Given the description of an element on the screen output the (x, y) to click on. 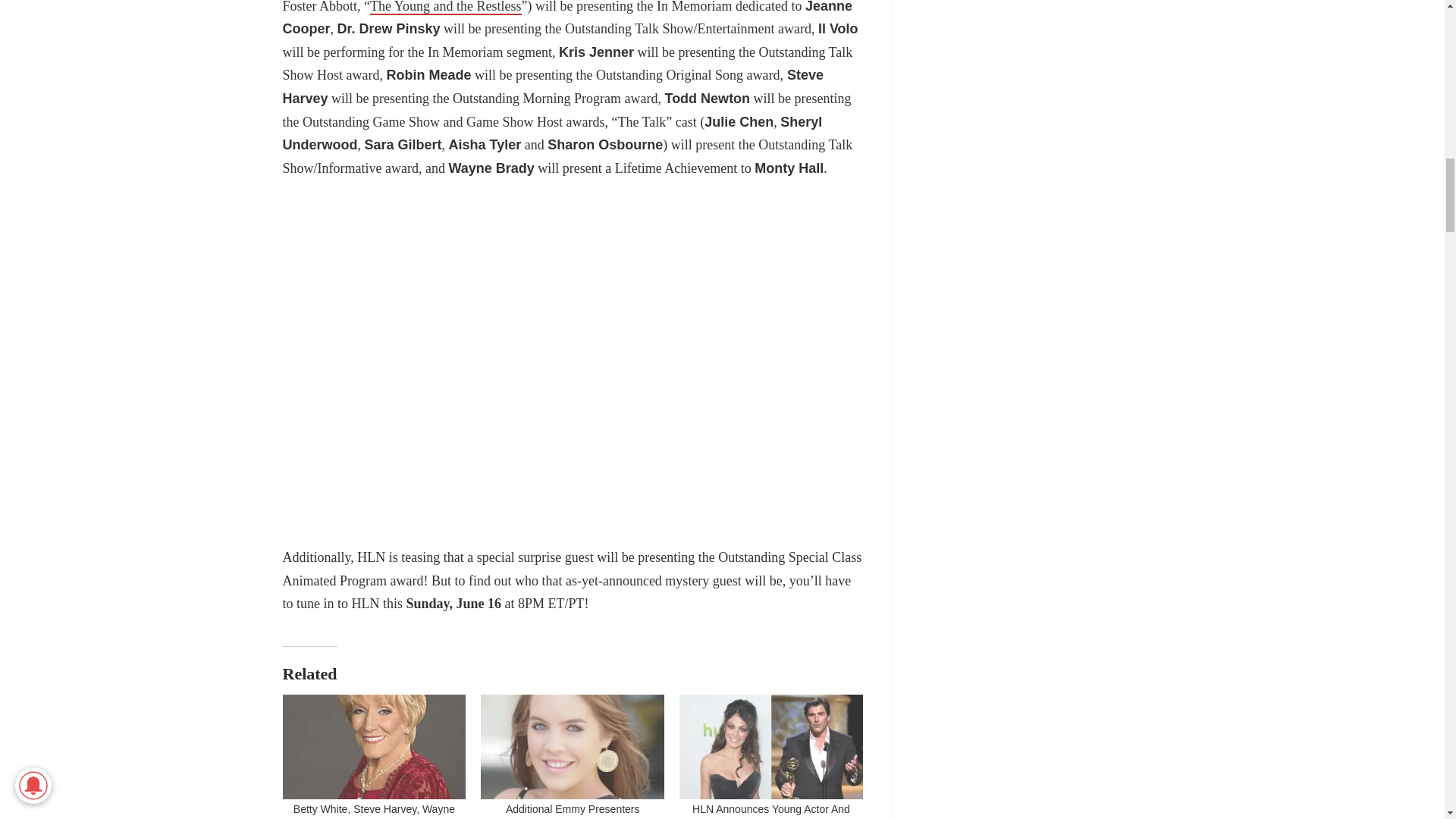
HLN Announces Young Actor and Actress Award Presenters (771, 746)
HLN Announces Young Actor and Actress Award Presenters (771, 811)
